Given the description of an element on the screen output the (x, y) to click on. 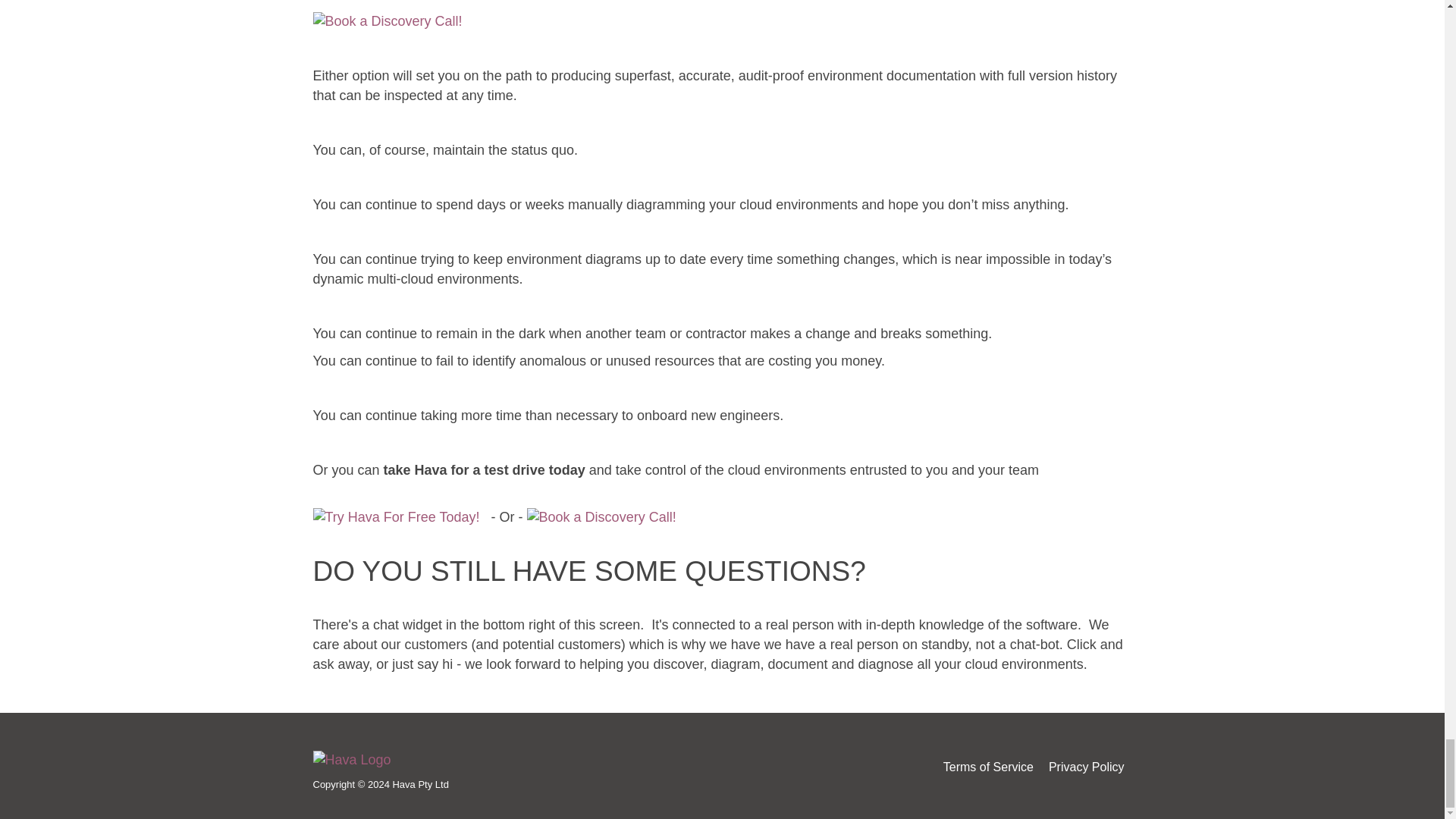
Hava Logo (351, 760)
